Given the description of an element on the screen output the (x, y) to click on. 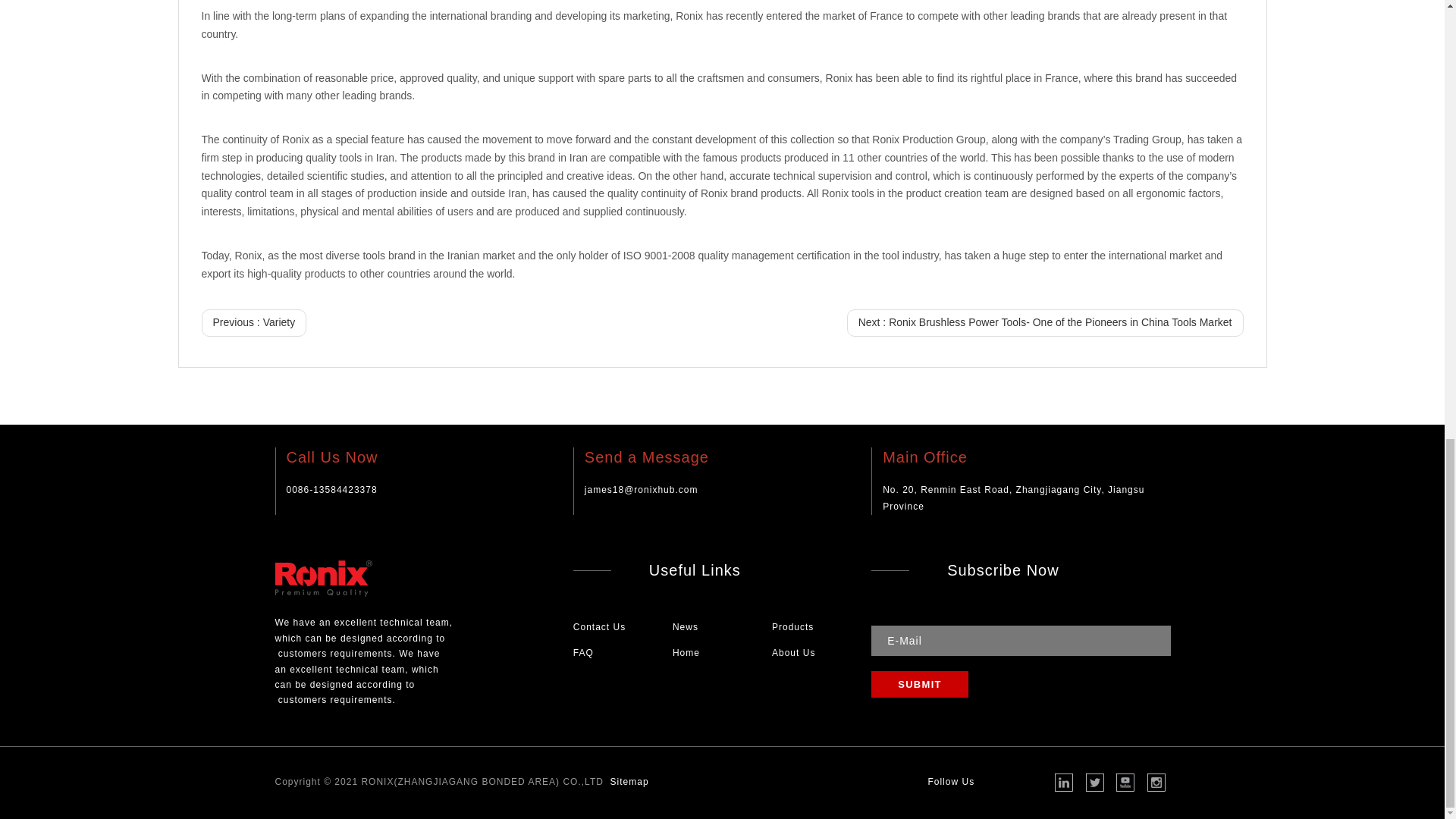
Linkedin (1067, 786)
FAQ (583, 652)
About Us (793, 652)
Home (686, 652)
Subscribe (919, 683)
News (685, 626)
Contact Us (599, 626)
Products (792, 626)
